Given the description of an element on the screen output the (x, y) to click on. 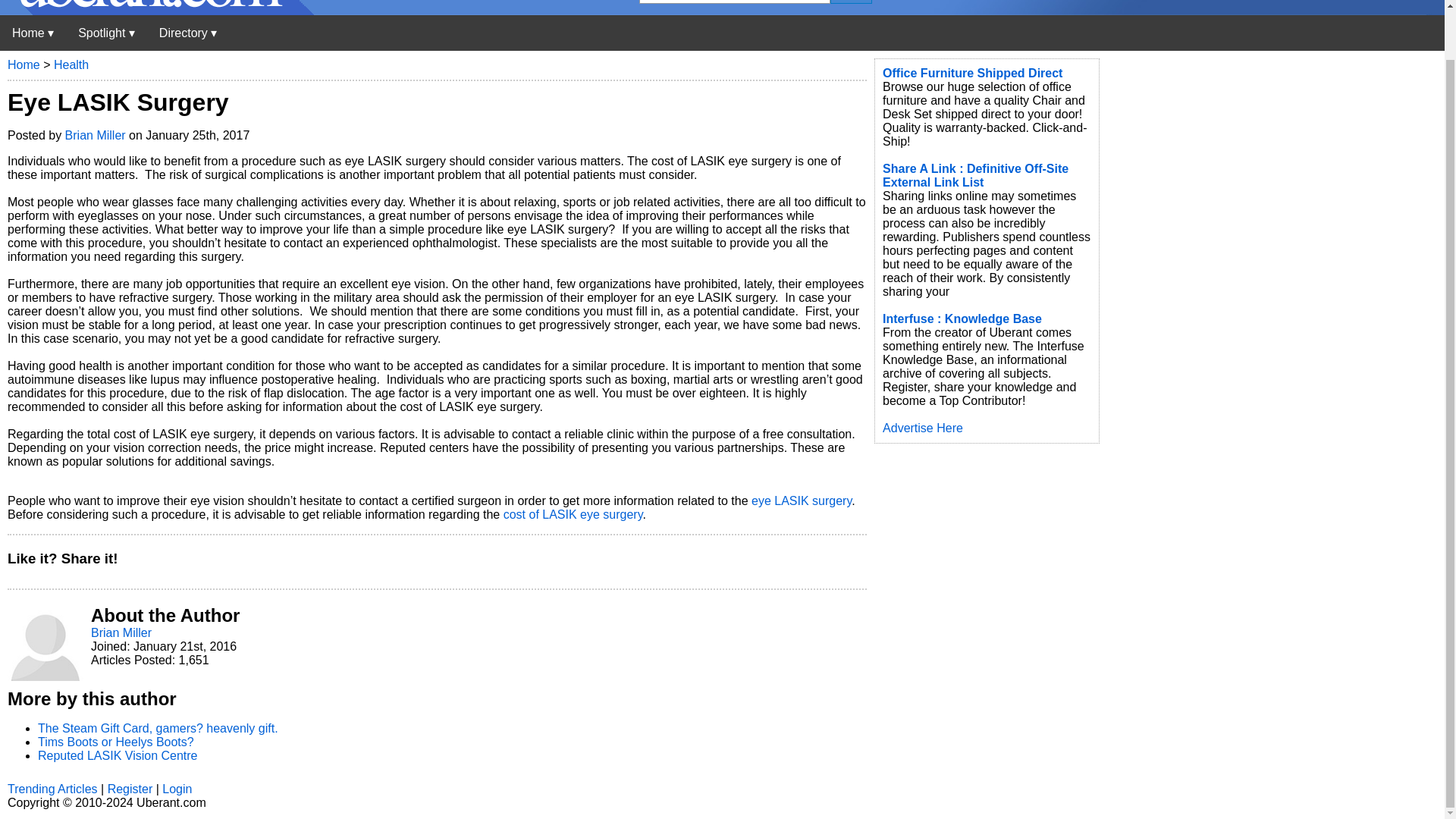
Uberant (32, 32)
Search (850, 2)
Uberant (157, 10)
Search (850, 2)
